Given the description of an element on the screen output the (x, y) to click on. 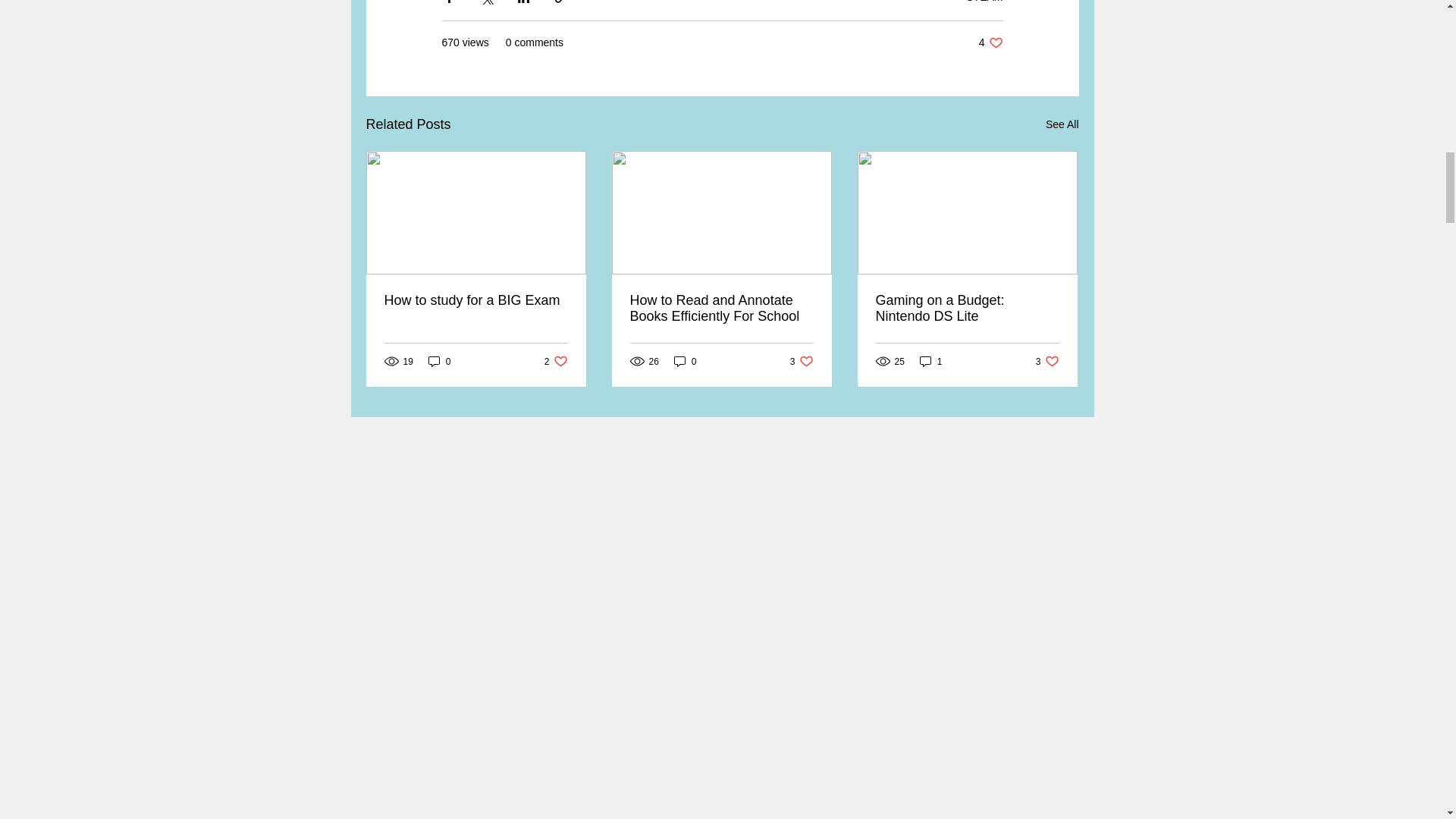
Gaming on a Budget: Nintendo DS Lite (555, 360)
How to Read and Annotate Books Efficiently For School (966, 308)
STEAM (801, 360)
0 (990, 42)
See All (720, 308)
0 (984, 1)
How to study for a BIG Exam (439, 360)
